Given the description of an element on the screen output the (x, y) to click on. 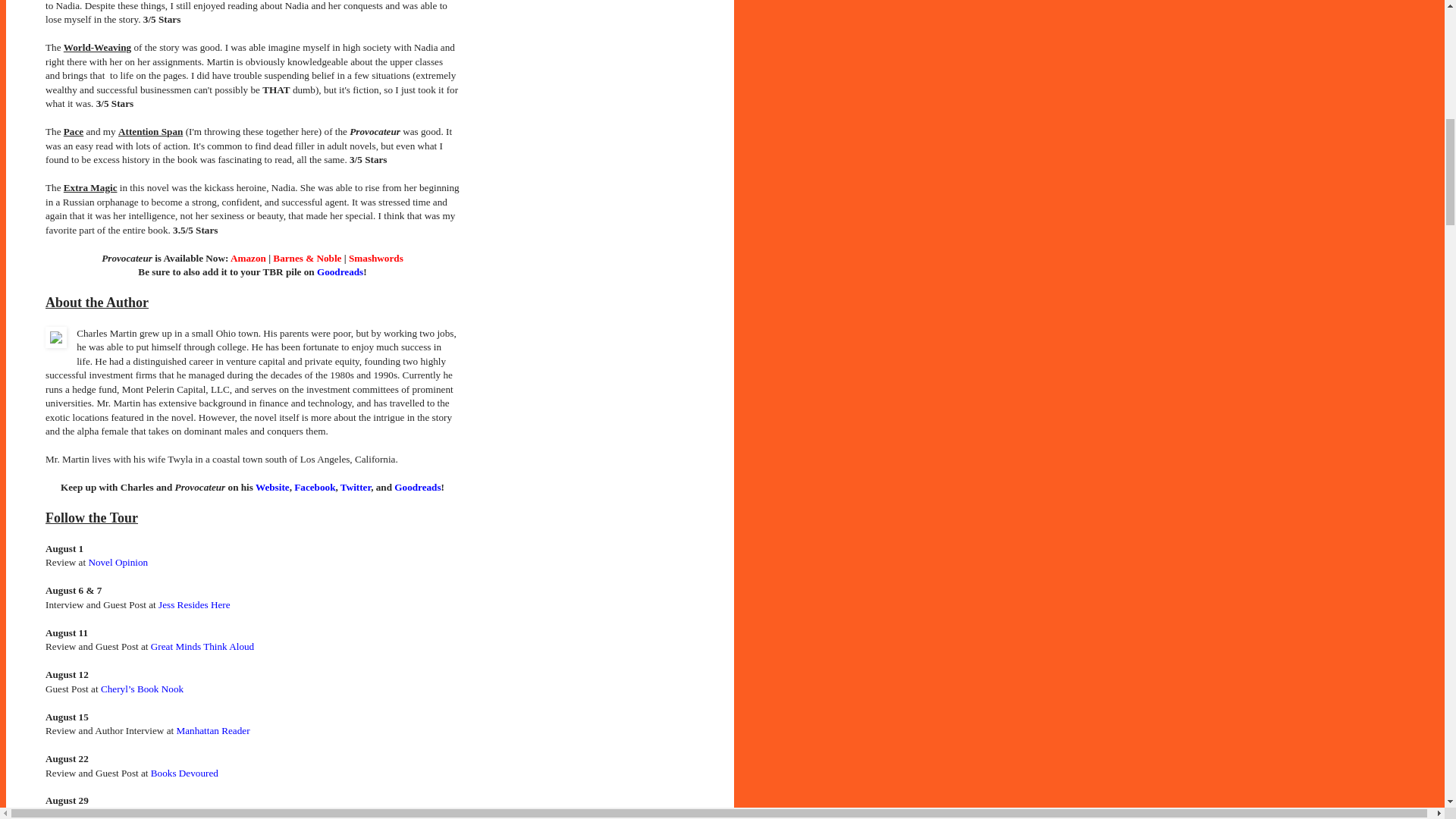
Amazon (248, 257)
Novel Opinion (117, 562)
Goodreads (417, 487)
Manhattan Reader (212, 730)
Twitter (355, 487)
Goodreads (339, 271)
Books Devoured (184, 772)
Website (272, 487)
Escape in Words (120, 814)
Jess Resides Here (194, 604)
Facebook (314, 487)
Great Minds Think Aloud (202, 645)
Smashwords (376, 257)
